Given the description of an element on the screen output the (x, y) to click on. 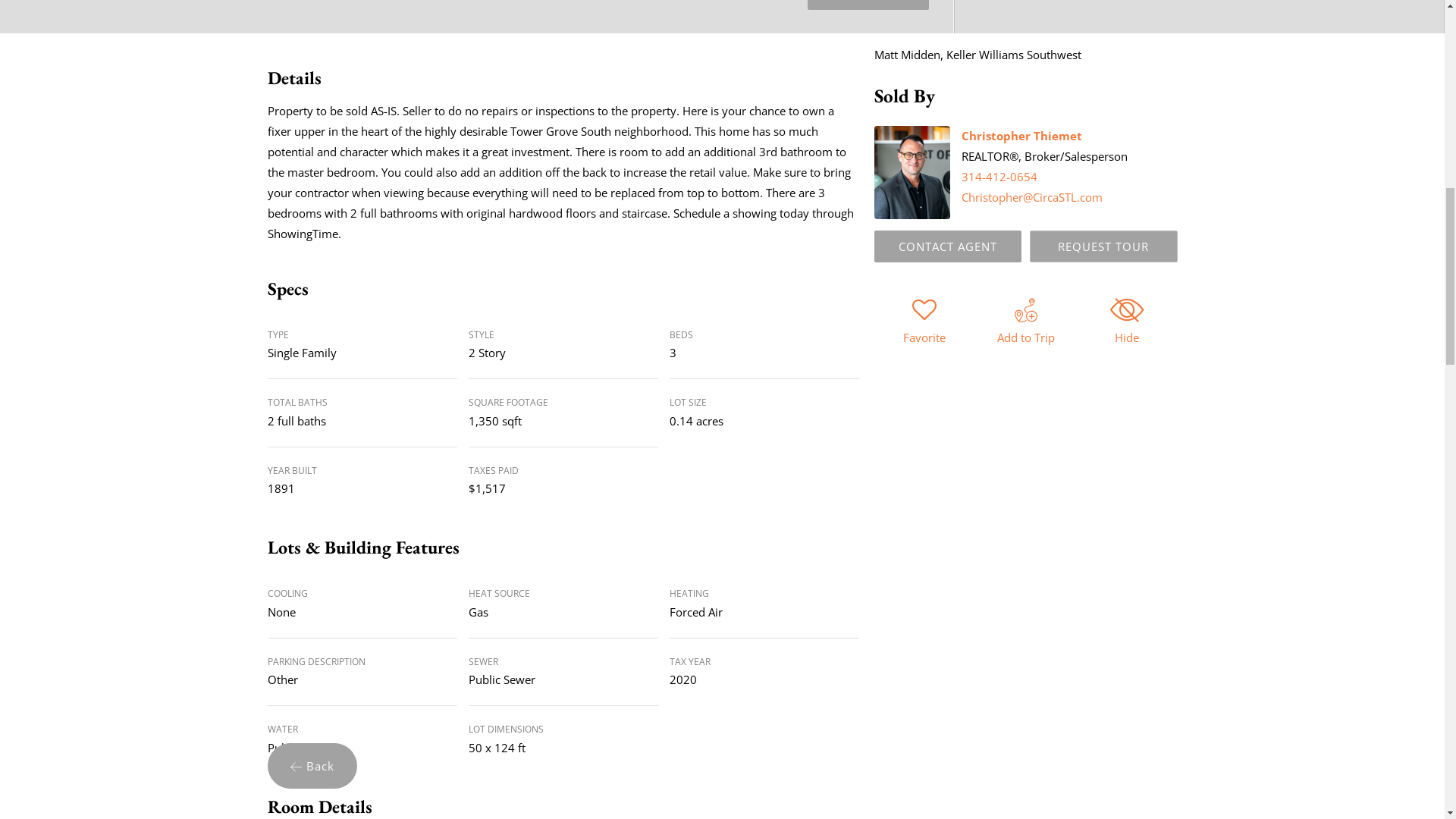
CONTACT AGENT (946, 246)
314-412-0654 (998, 176)
VIEW ALL (868, 4)
Christopher Thiemet (1020, 135)
4053 Connecticut St Louis MO 63116 (476, 17)
